Given the description of an element on the screen output the (x, y) to click on. 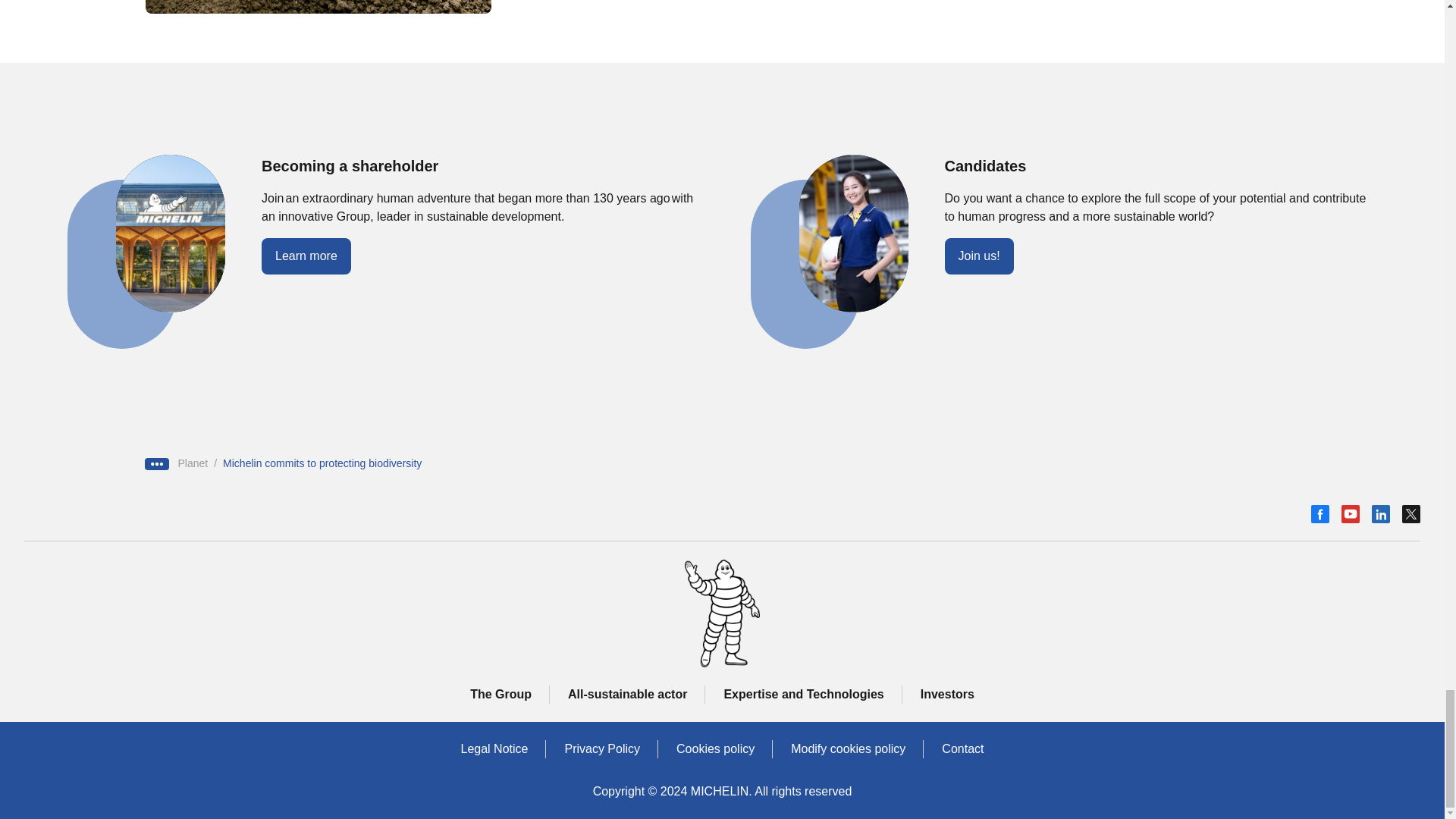
mains plants (318, 6)
